Given the description of an element on the screen output the (x, y) to click on. 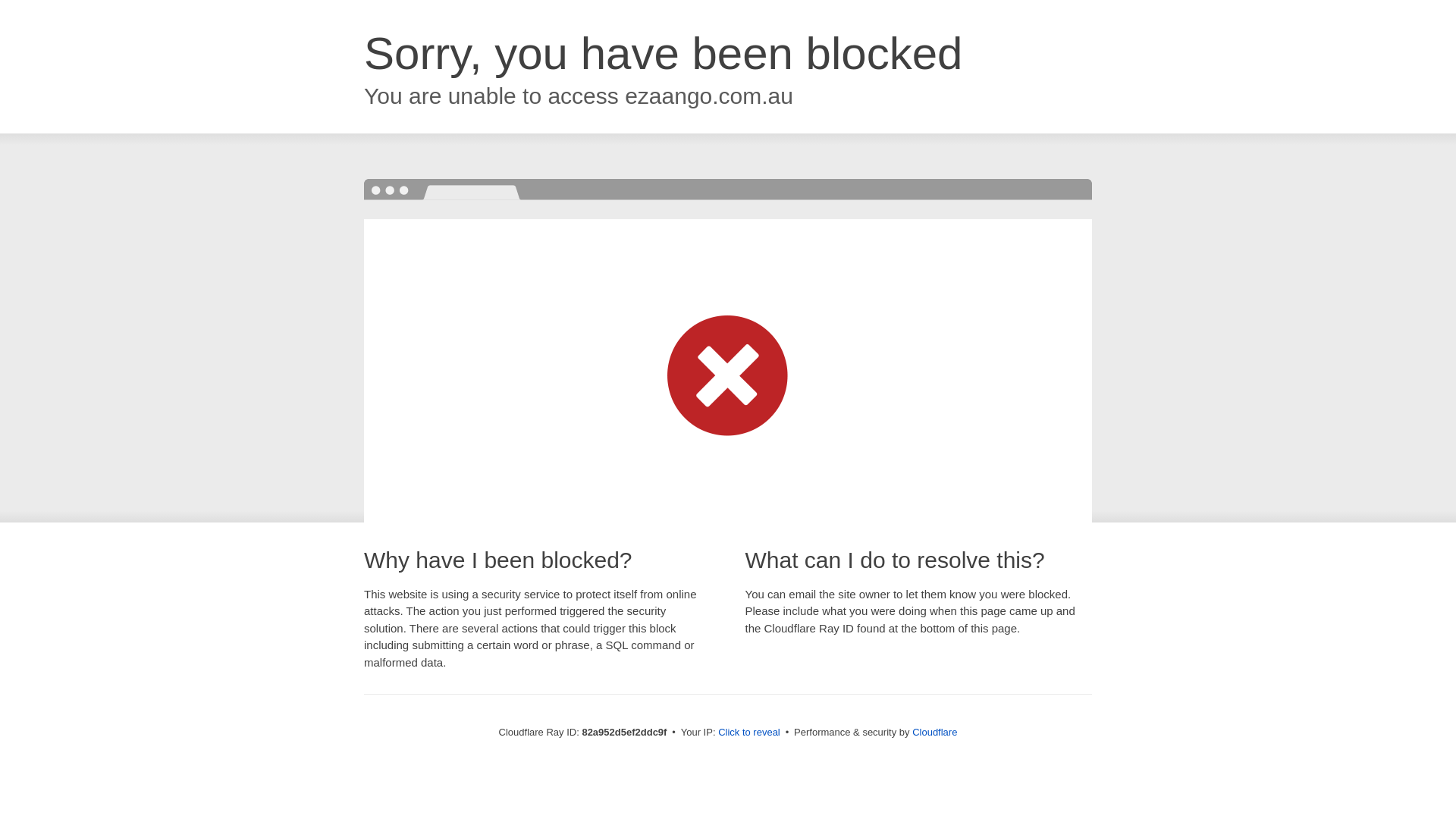
Click to reveal Element type: text (749, 732)
Cloudflare Element type: text (934, 731)
